Given the description of an element on the screen output the (x, y) to click on. 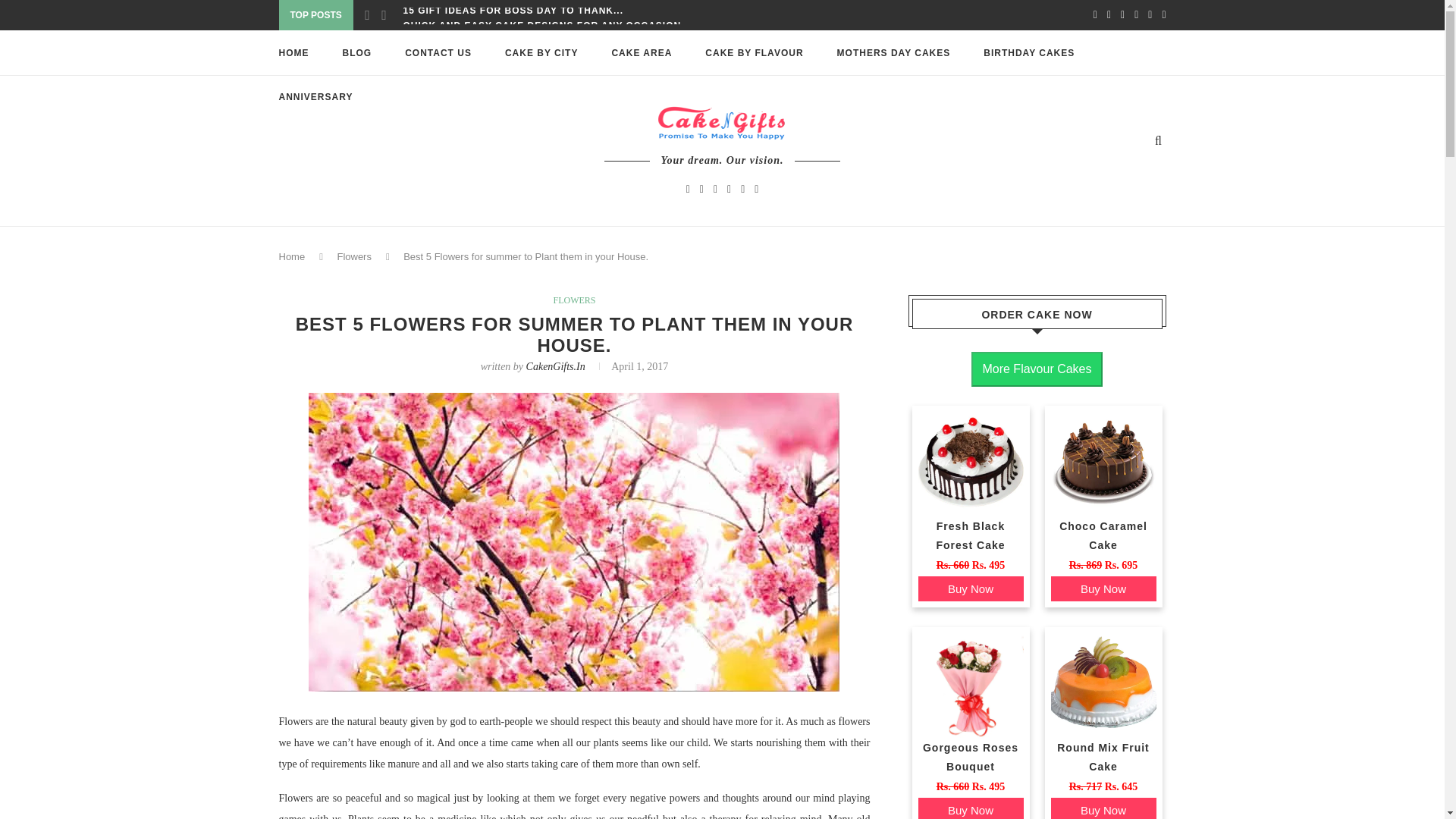
15 GIFT IDEAS FOR BOSS DAY TO THANK... (513, 10)
View all posts in Flowers (574, 299)
QUICK AND EASY CAKE DESIGNS FOR ANY OCCASION (542, 25)
